Given the description of an element on the screen output the (x, y) to click on. 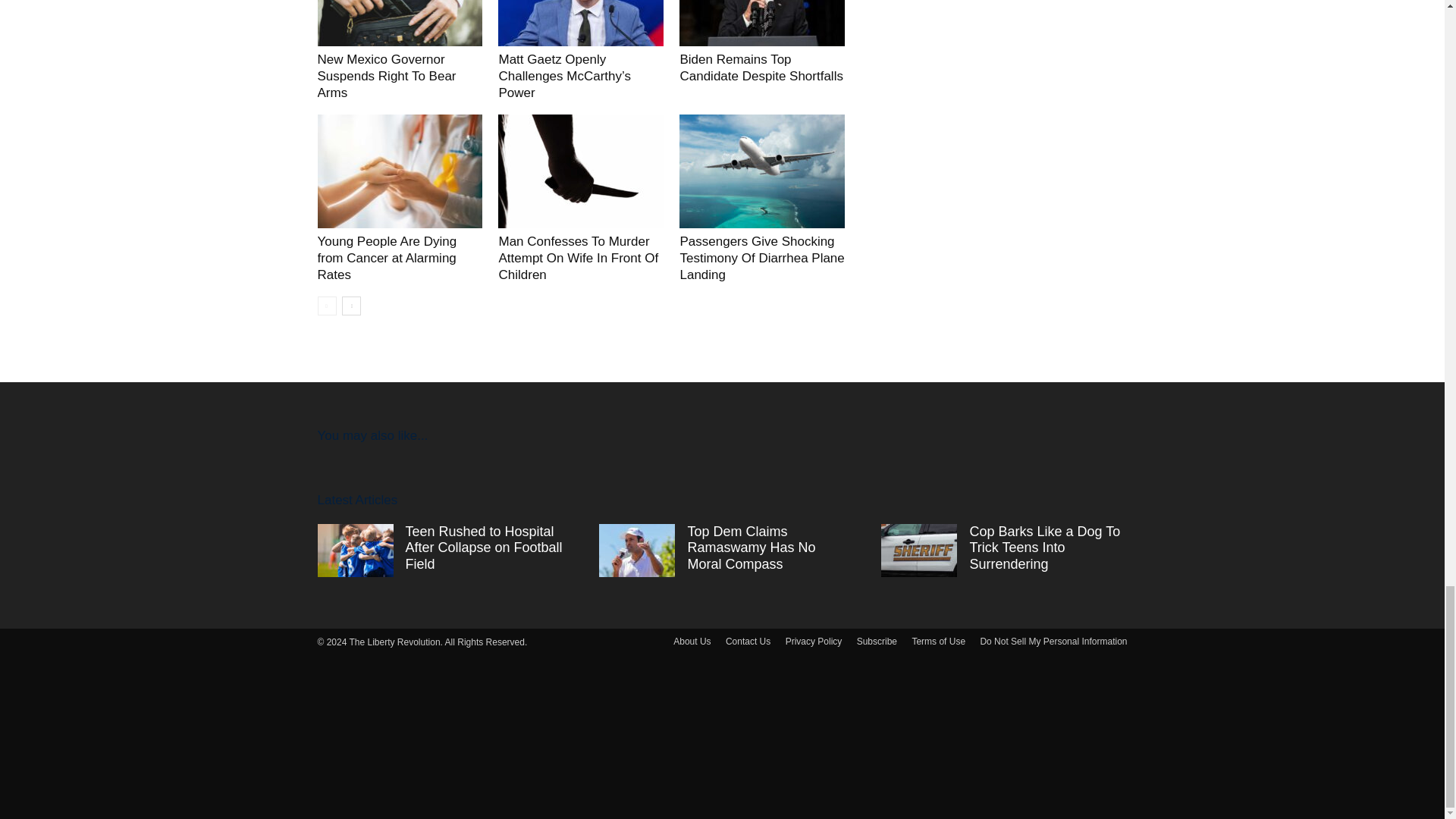
Biden Remains Top Candidate Despite Shortfalls (761, 67)
Young People Are Dying from Cancer at Alarming Rates (387, 257)
Man Confesses To Murder Attempt On Wife In Front Of Children (577, 257)
New Mexico Governor Suspends Right To Bear Arms (399, 22)
New Mexico Governor Suspends Right To Bear Arms (386, 75)
New Mexico Governor Suspends Right To Bear Arms (386, 75)
Biden Remains Top Candidate Despite Shortfalls (761, 22)
Passengers Give Shocking Testimony Of Diarrhea Plane Landing (761, 257)
